Given the description of an element on the screen output the (x, y) to click on. 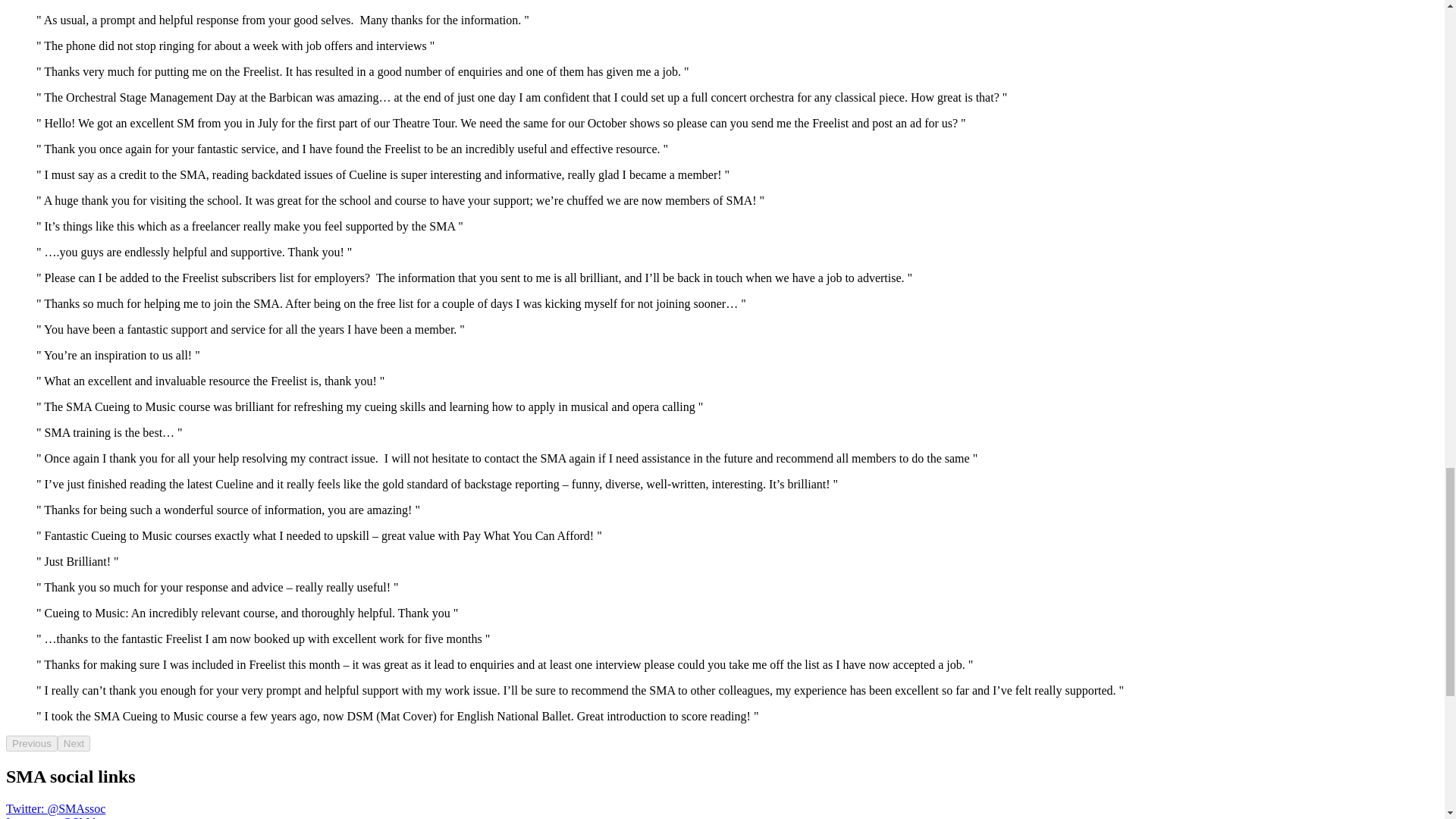
Previous (31, 743)
Next (74, 743)
